Given the description of an element on the screen output the (x, y) to click on. 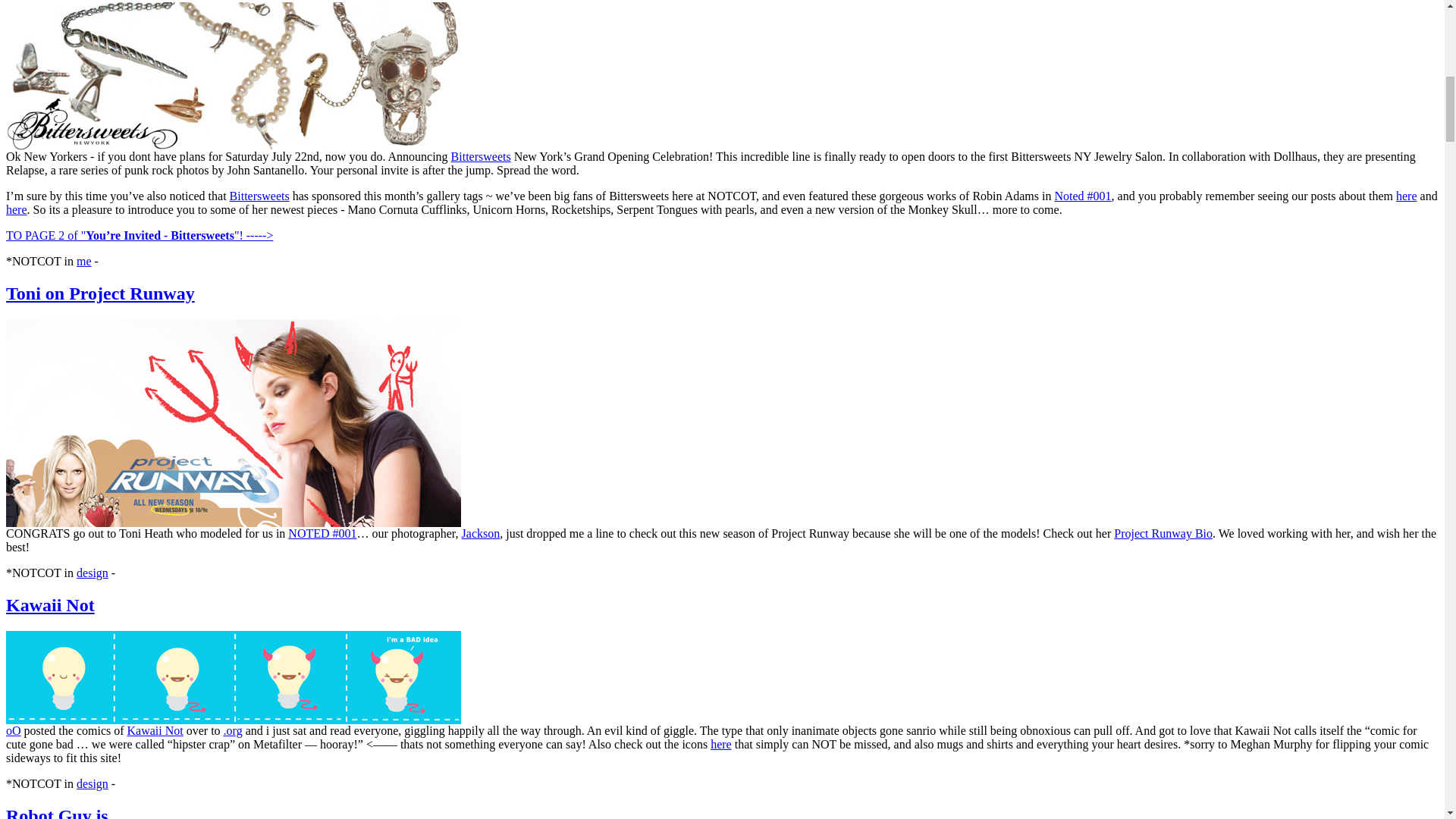
here (16, 209)
me (84, 260)
Bittersweets (259, 195)
Toni on Project Runway (100, 293)
here (1406, 195)
Bittersweets (481, 155)
